Given the description of an element on the screen output the (x, y) to click on. 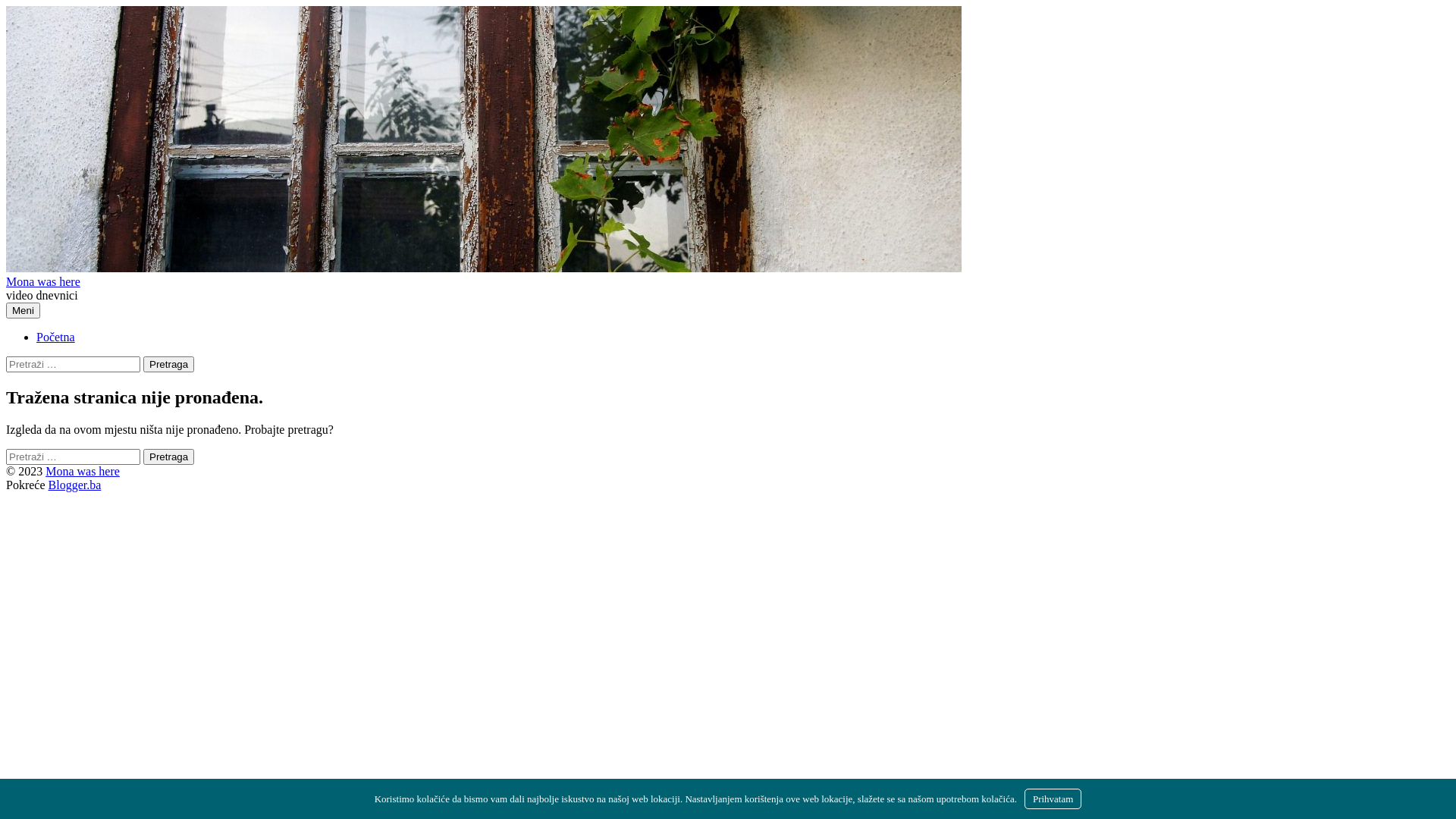
Mona was here Element type: text (82, 470)
Pretraga Element type: text (168, 456)
Prihvatam Element type: text (1052, 798)
Meni Element type: text (23, 310)
Pretraga Element type: text (168, 364)
Mona was here Element type: text (43, 281)
Blogger.ba Element type: text (74, 484)
